Given the description of an element on the screen output the (x, y) to click on. 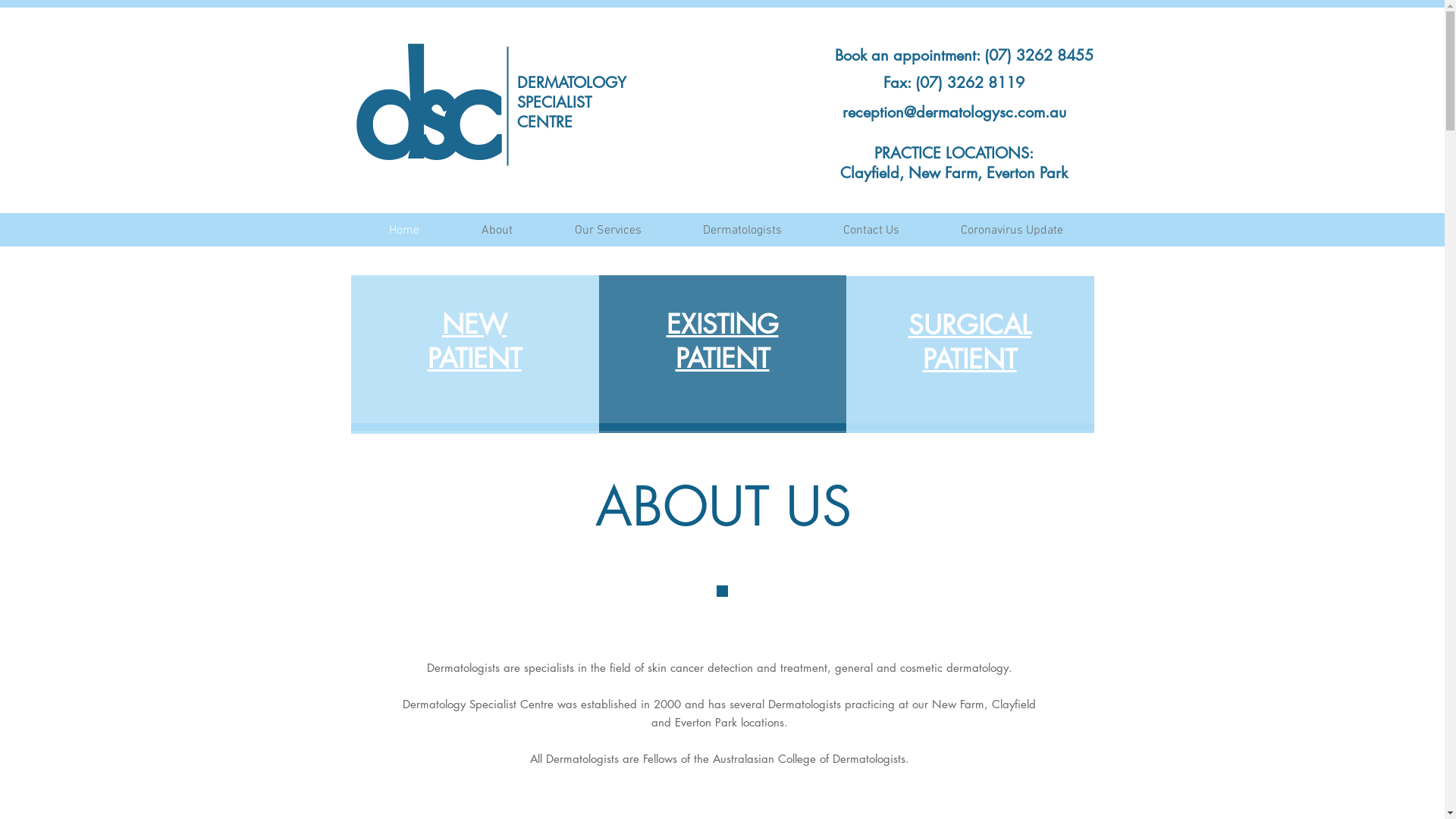
PATIENT Element type: text (474, 357)
Home Element type: text (403, 230)
PATIENT Element type: text (969, 359)
EXISTING Element type: text (721, 324)
Coronavirus Update Element type: text (1011, 230)
Dermatologists Element type: text (741, 230)
About Element type: text (496, 230)
PATIENT Element type: text (721, 358)
NEW Element type: text (473, 323)
reception@dermatologysc.com.au Element type: text (953, 112)
Book an appointment: (07) 3262 8455 Element type: text (963, 55)
DERMATOLOGY Element type: text (571, 82)
dsc Element type: text (417, 111)
SURGICAL Element type: text (969, 324)
Contact Us Element type: text (871, 230)
Fax: Element type: text (896, 82)
Our Services Element type: text (606, 230)
